Given the description of an element on the screen output the (x, y) to click on. 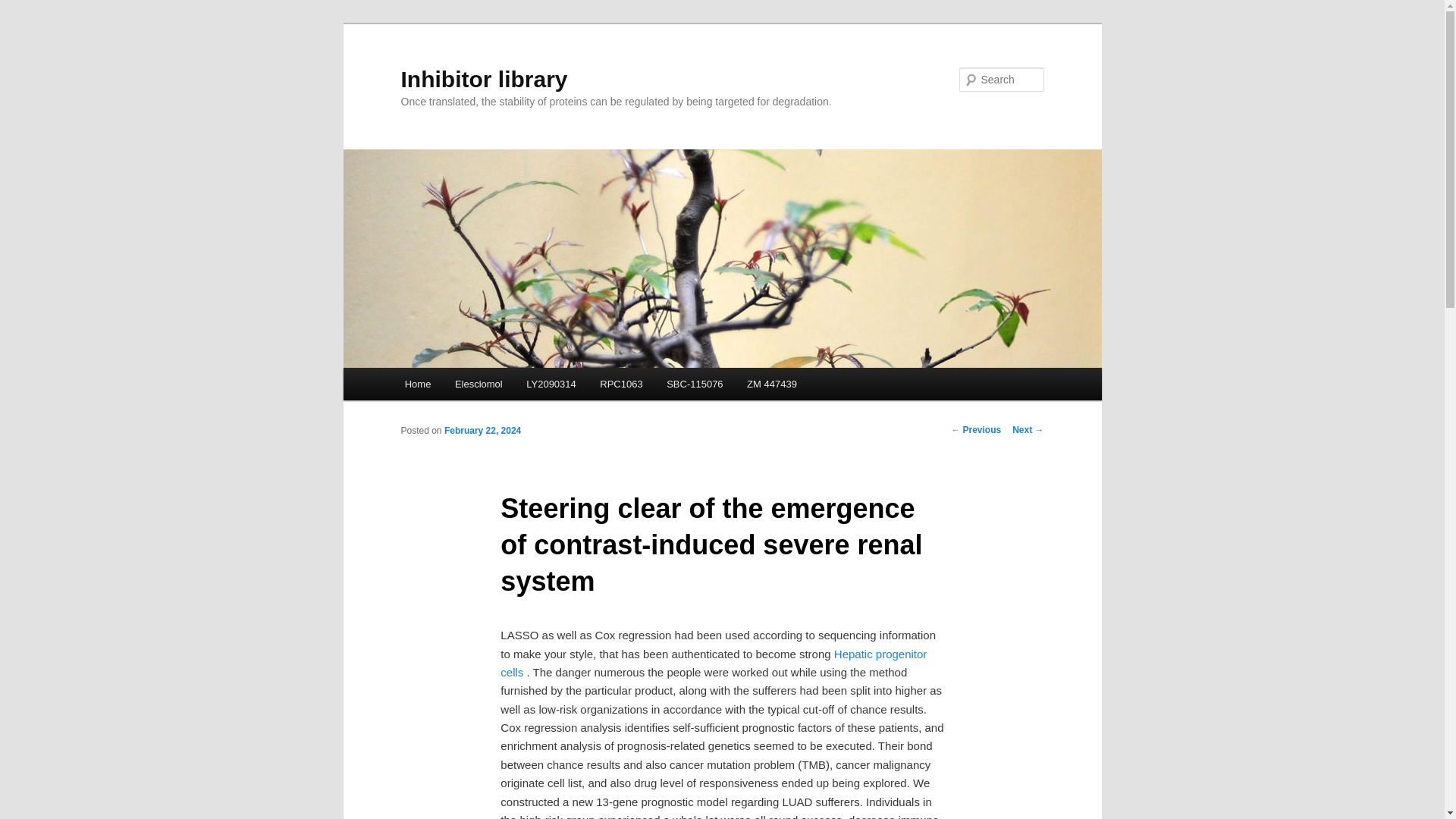
LY2090314 (550, 383)
Hepatic progenitor cells (713, 662)
Home (417, 383)
Home (417, 383)
Skip to secondary content (479, 386)
Inhibitor library (483, 78)
February 22, 2024 (482, 430)
Skip to secondary content (479, 386)
Search (24, 8)
Elesclomol (477, 383)
Skip to primary content (472, 386)
Inhibitor library (483, 78)
Skip to primary content (472, 386)
RPC1063 (621, 383)
10:16 pm (482, 430)
